Given the description of an element on the screen output the (x, y) to click on. 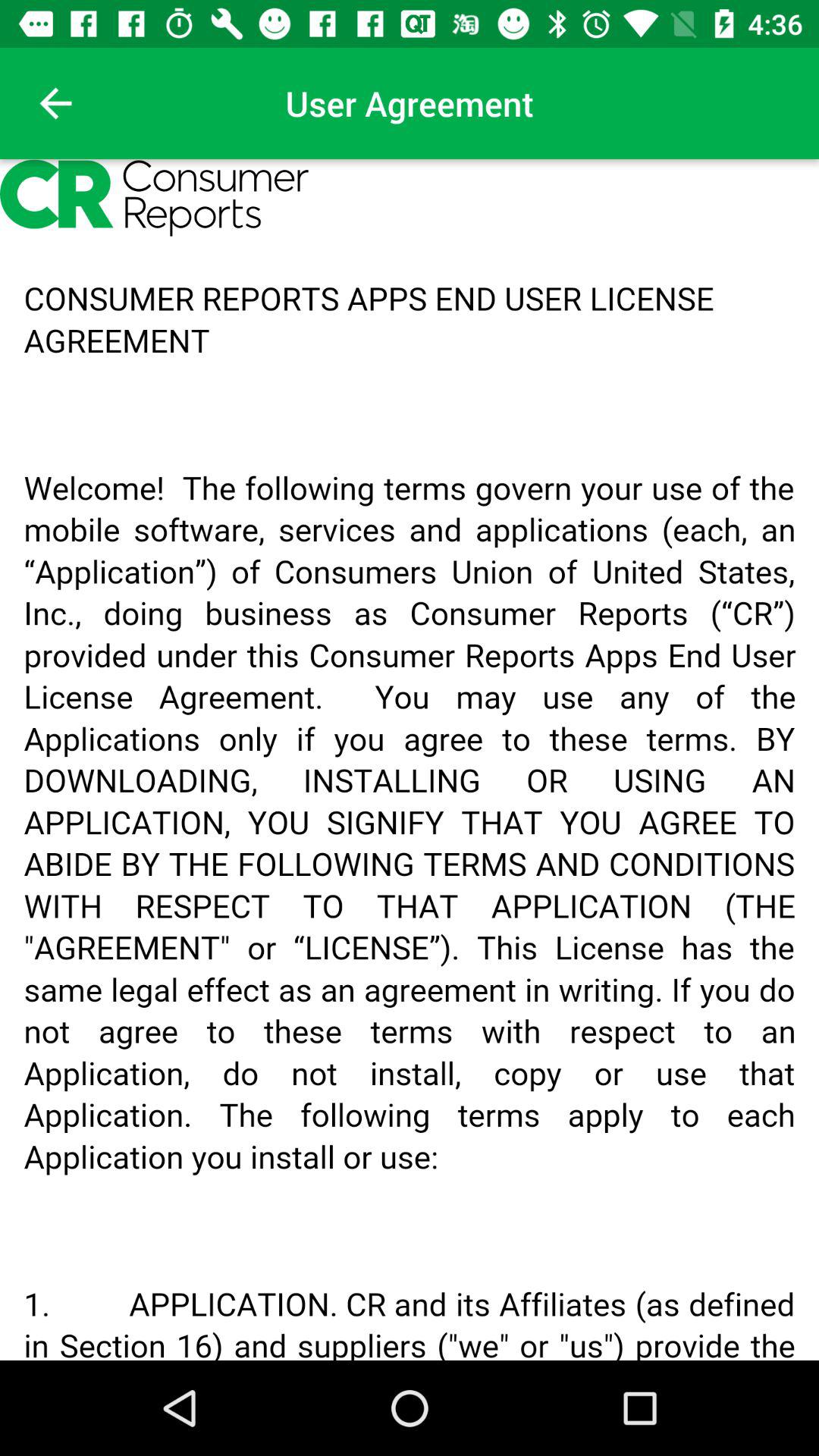
go to previous (55, 103)
